Given the description of an element on the screen output the (x, y) to click on. 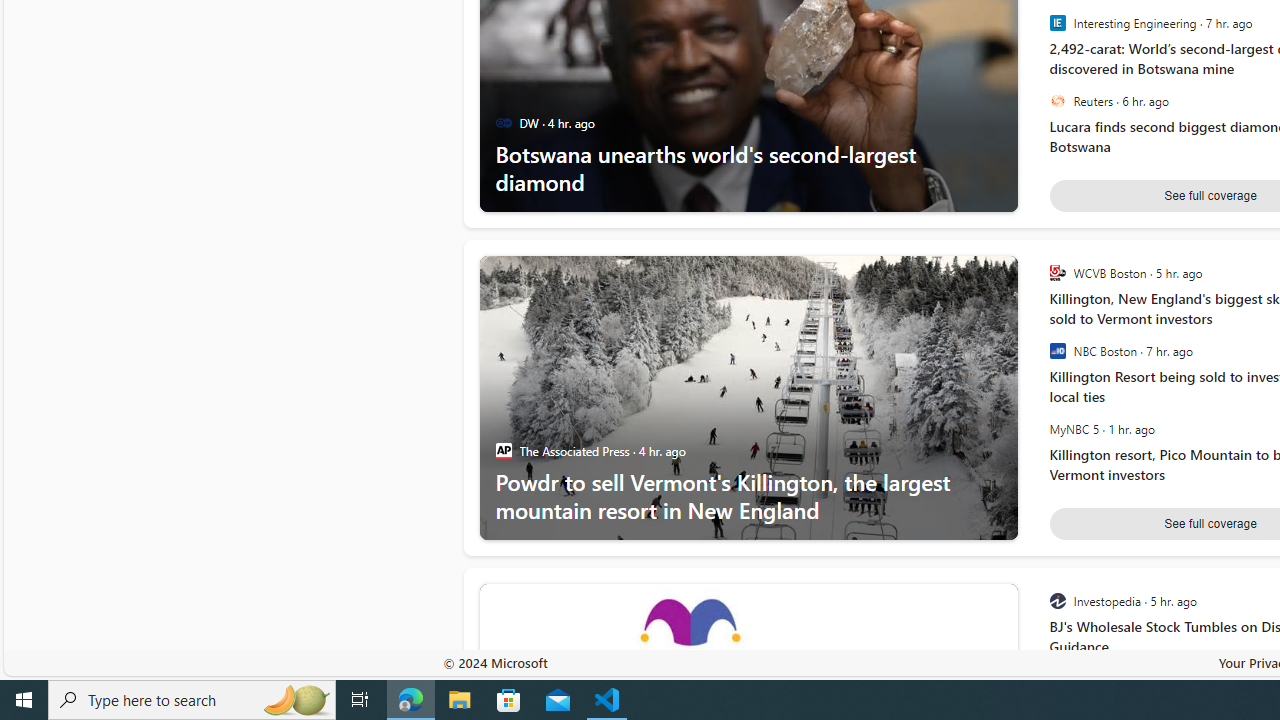
The Associated Press 4 hr. ago (602, 451)
MarketWatch (1057, 679)
NBC Boston (1057, 351)
DW (503, 123)
Botswana unearths world's second-largest diamond - DW (748, 168)
Reuters (1057, 101)
DW 4 hr. ago (556, 123)
Investopedia (1057, 601)
The Associated Press (503, 451)
WCVB Boston (1057, 273)
Interesting Engineering (1057, 23)
